Given the description of an element on the screen output the (x, y) to click on. 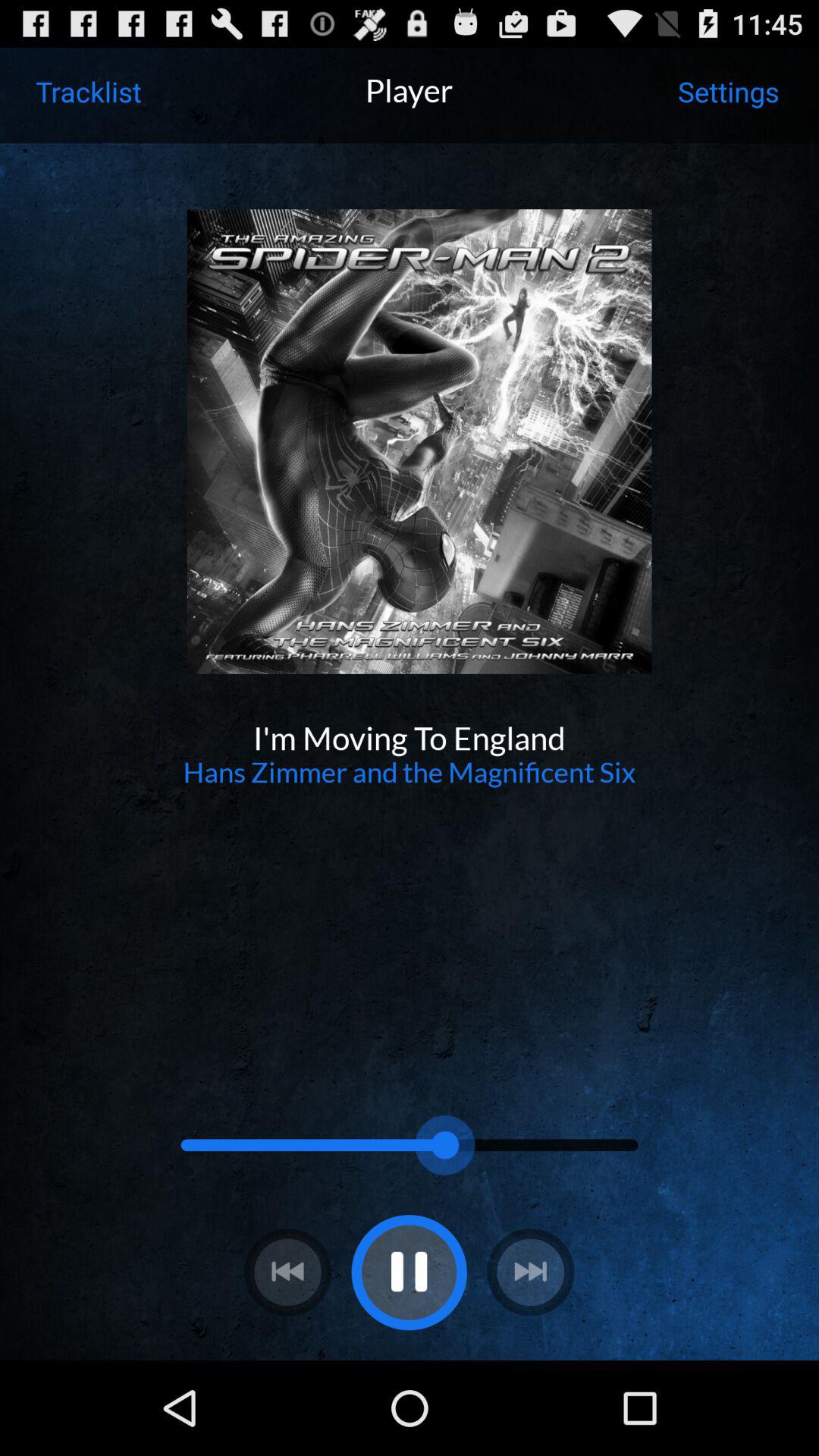
goes to previous item played (287, 1272)
